Given the description of an element on the screen output the (x, y) to click on. 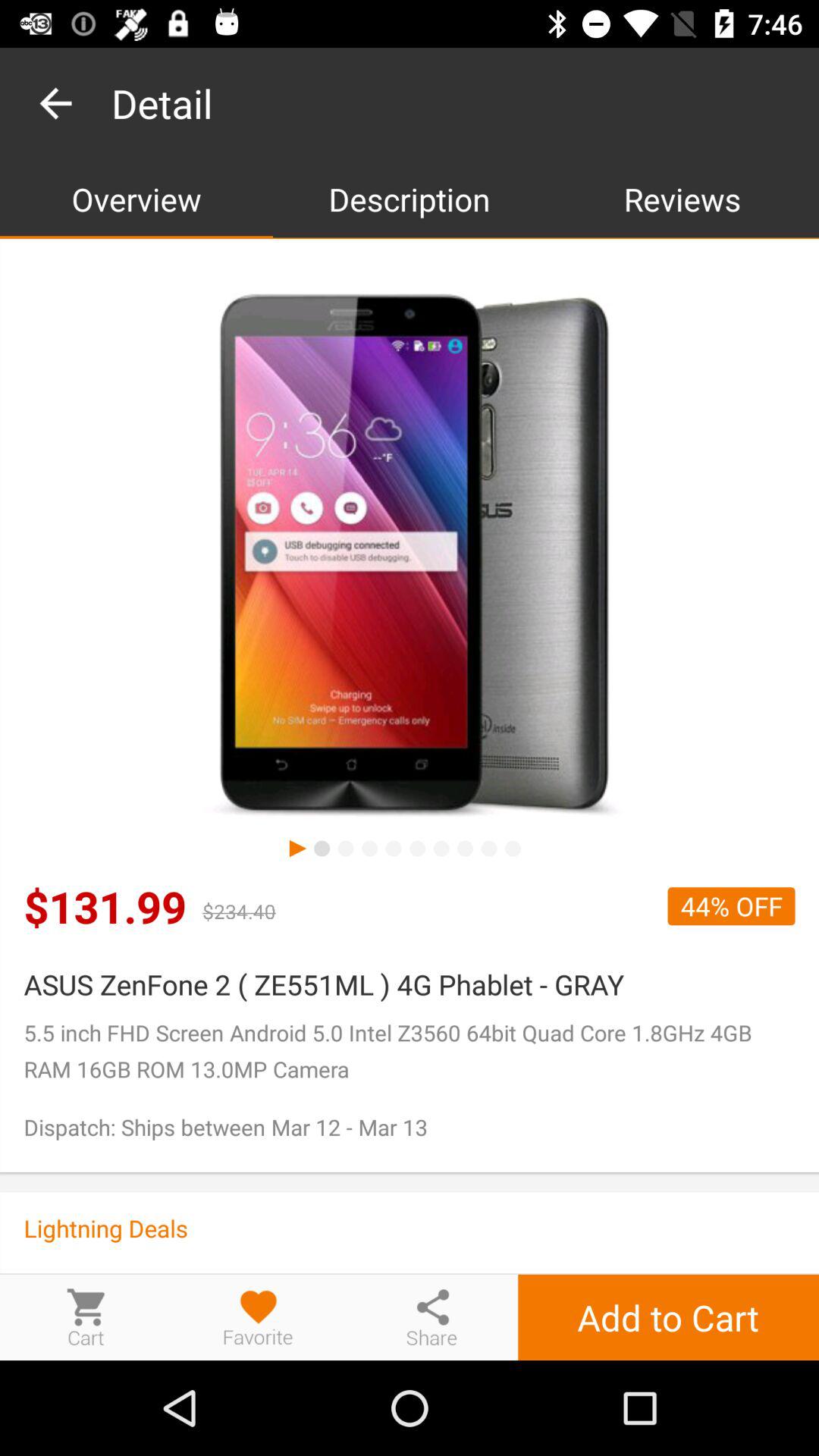
share the page (431, 1317)
